Given the description of an element on the screen output the (x, y) to click on. 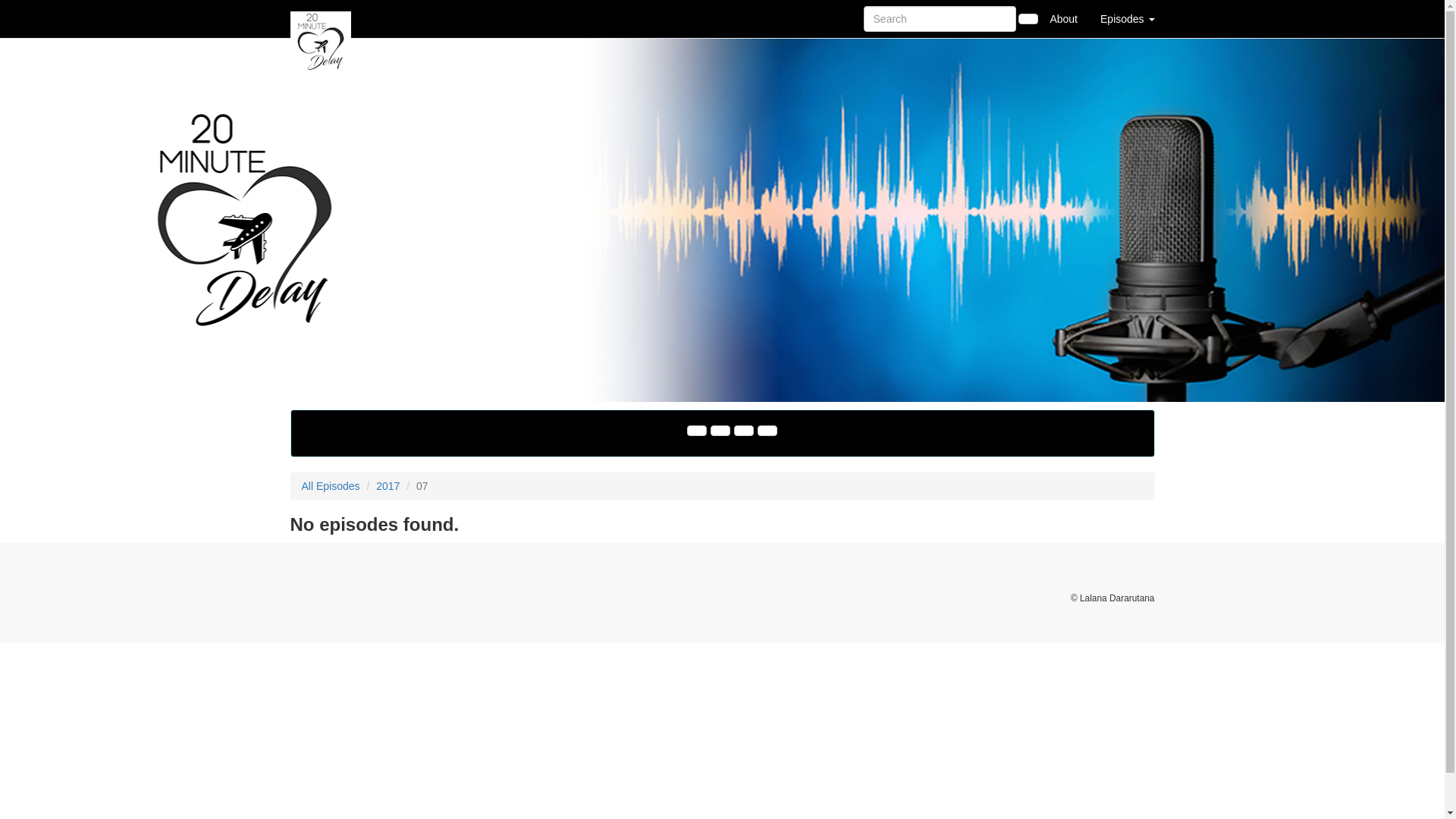
Episodes Element type: text (1126, 18)
About Element type: text (1063, 18)
All Episodes Element type: text (330, 486)
2017 Element type: text (387, 486)
Home Page Element type: hover (320, 18)
